Given the description of an element on the screen output the (x, y) to click on. 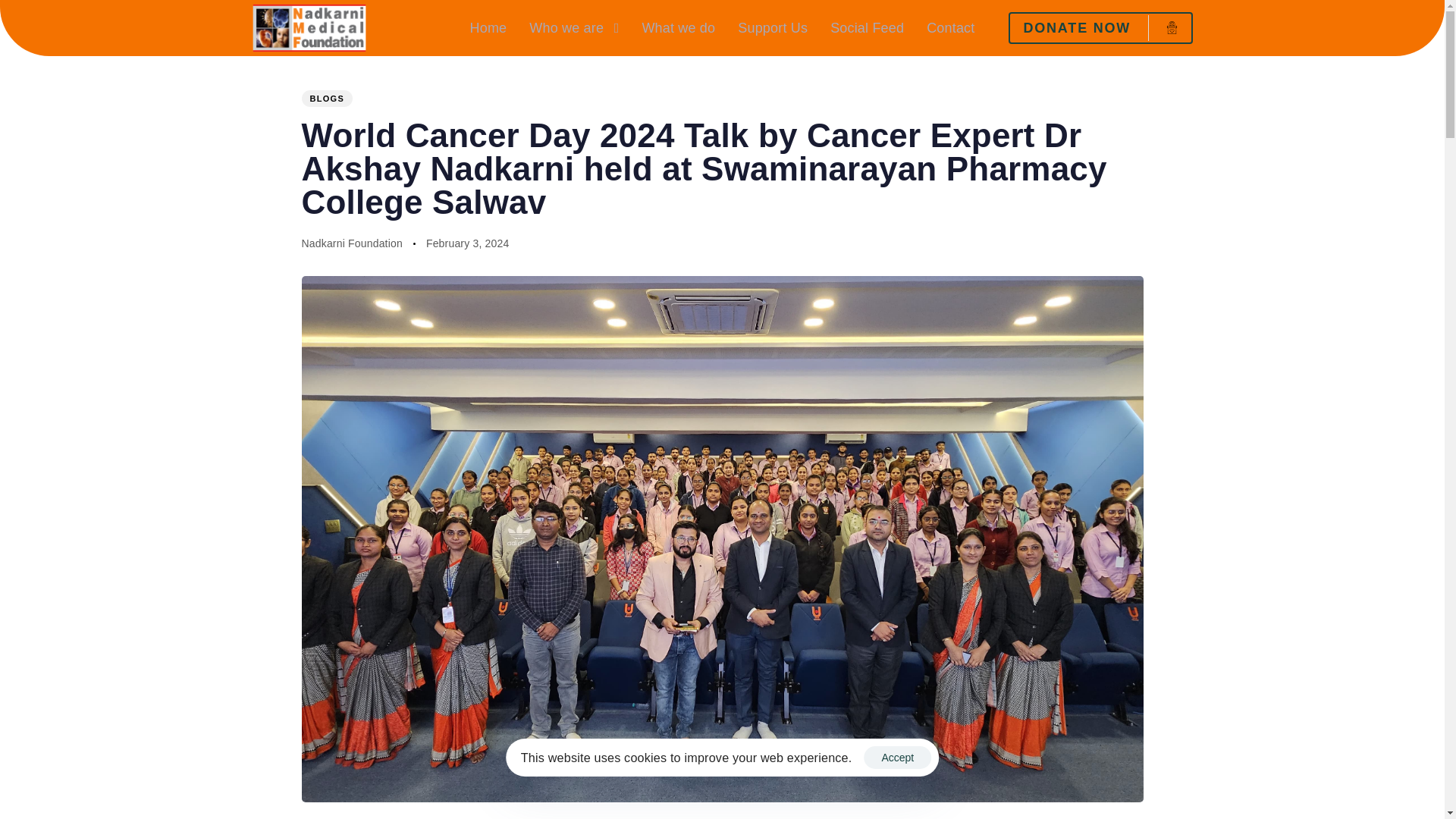
Support Us (772, 28)
Home (488, 28)
February 3, 2024 (467, 243)
Social Feed (866, 28)
Who we are (574, 28)
What we do (678, 28)
Contact (950, 28)
BLOGS (327, 98)
Nadkarni Foundation (352, 243)
Posts by Nadkarni Foundation (352, 243)
DONATE NOW (1100, 28)
